Given the description of an element on the screen output the (x, y) to click on. 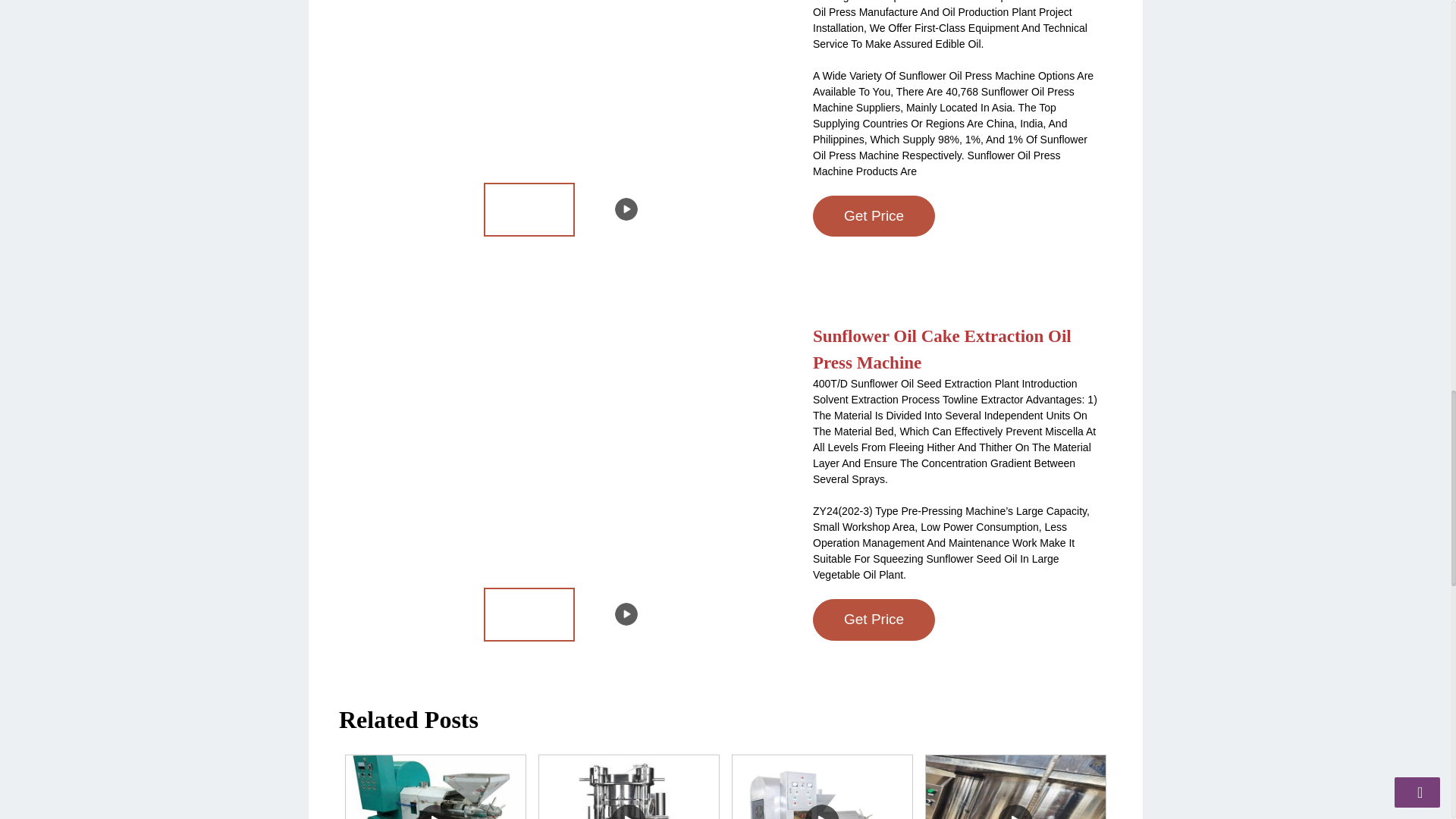
Get Price (873, 619)
Get Price (873, 173)
